Given the description of an element on the screen output the (x, y) to click on. 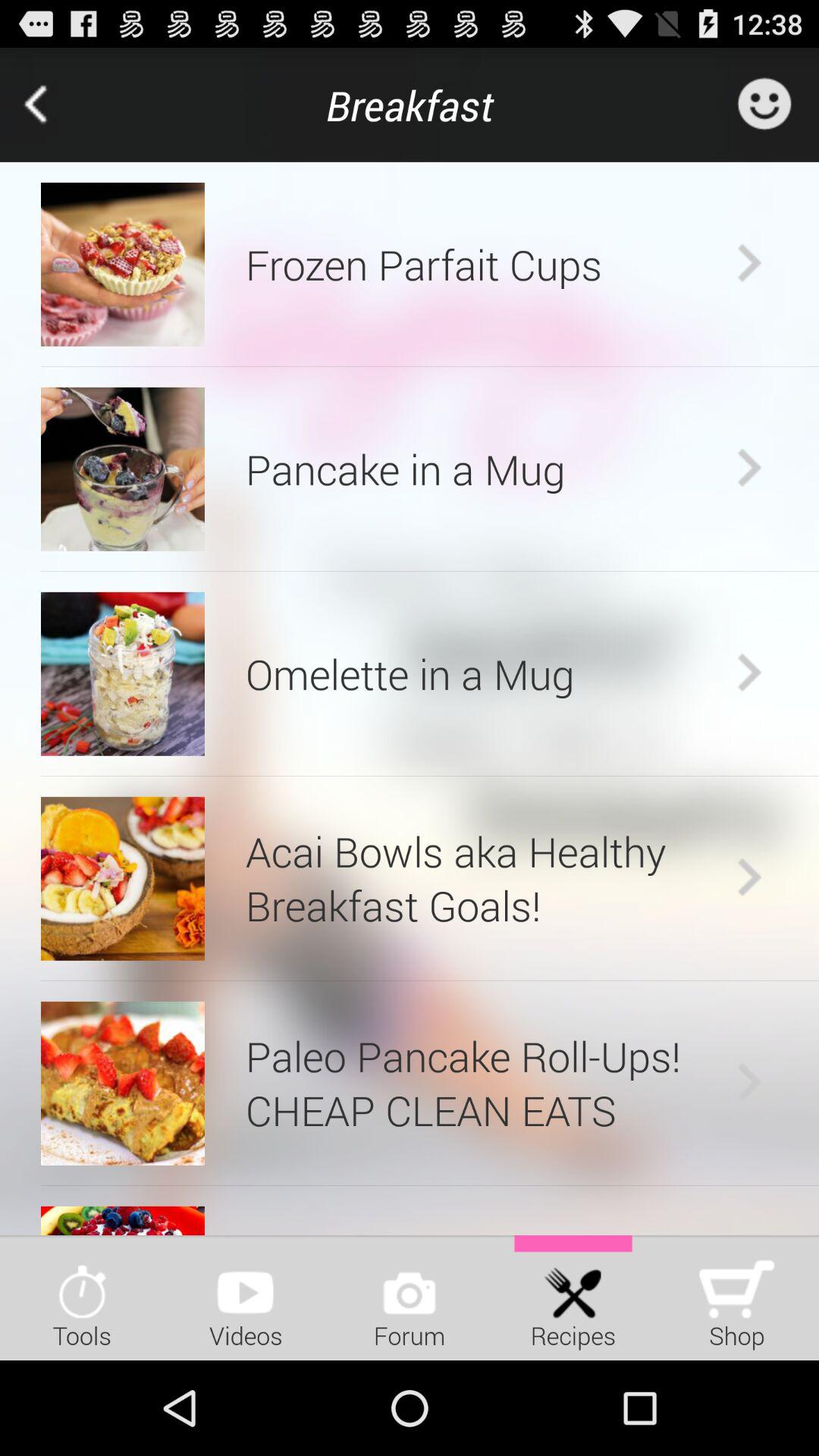
click app next to omelette in a app (122, 673)
